Given the description of an element on the screen output the (x, y) to click on. 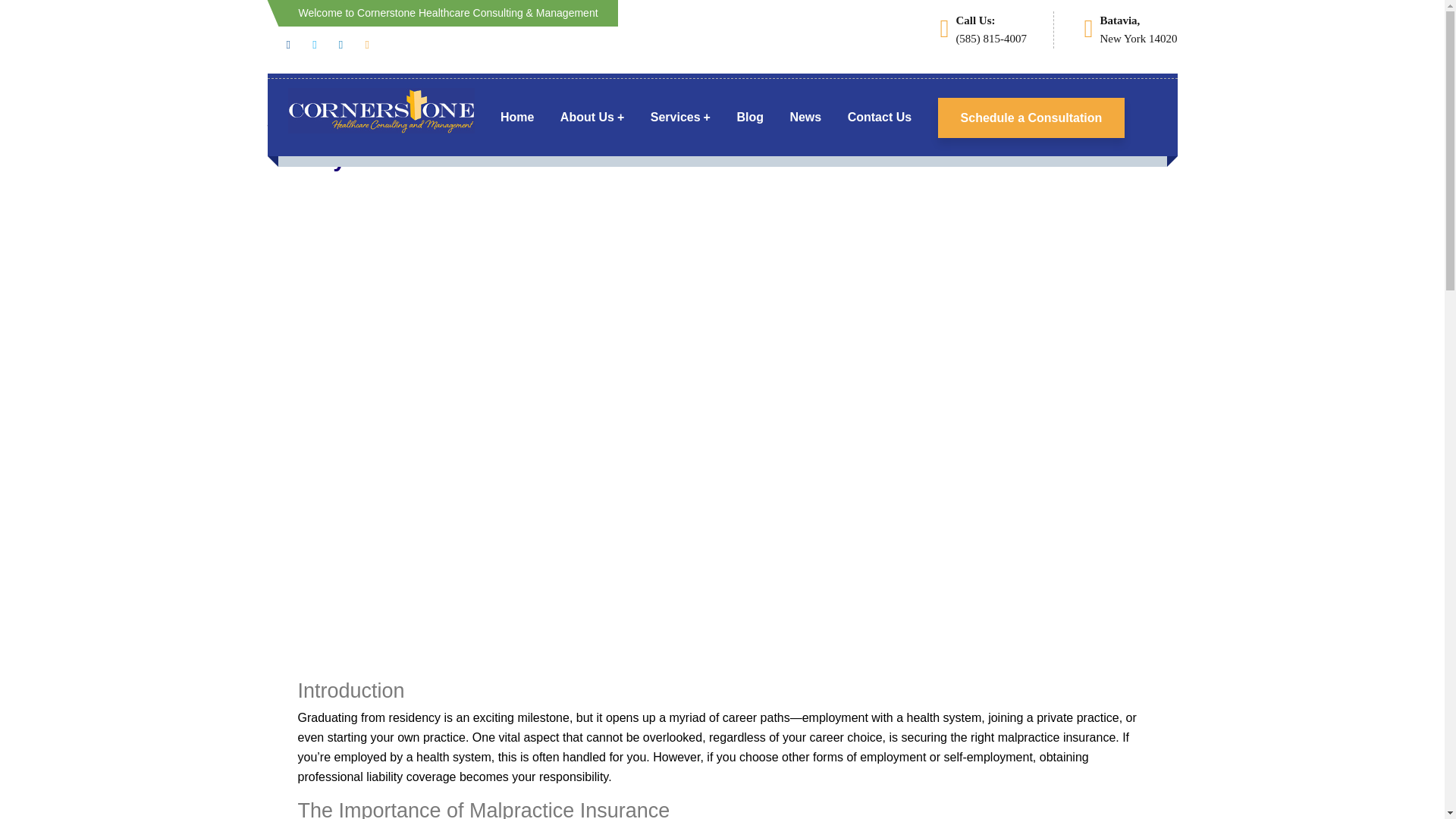
Email Subscription (546, 684)
Schedule a Consultation (1031, 117)
Cornerstone Healthcare Consulting (381, 110)
About Us (591, 117)
Services (680, 117)
Contact Us (879, 117)
